Given the description of an element on the screen output the (x, y) to click on. 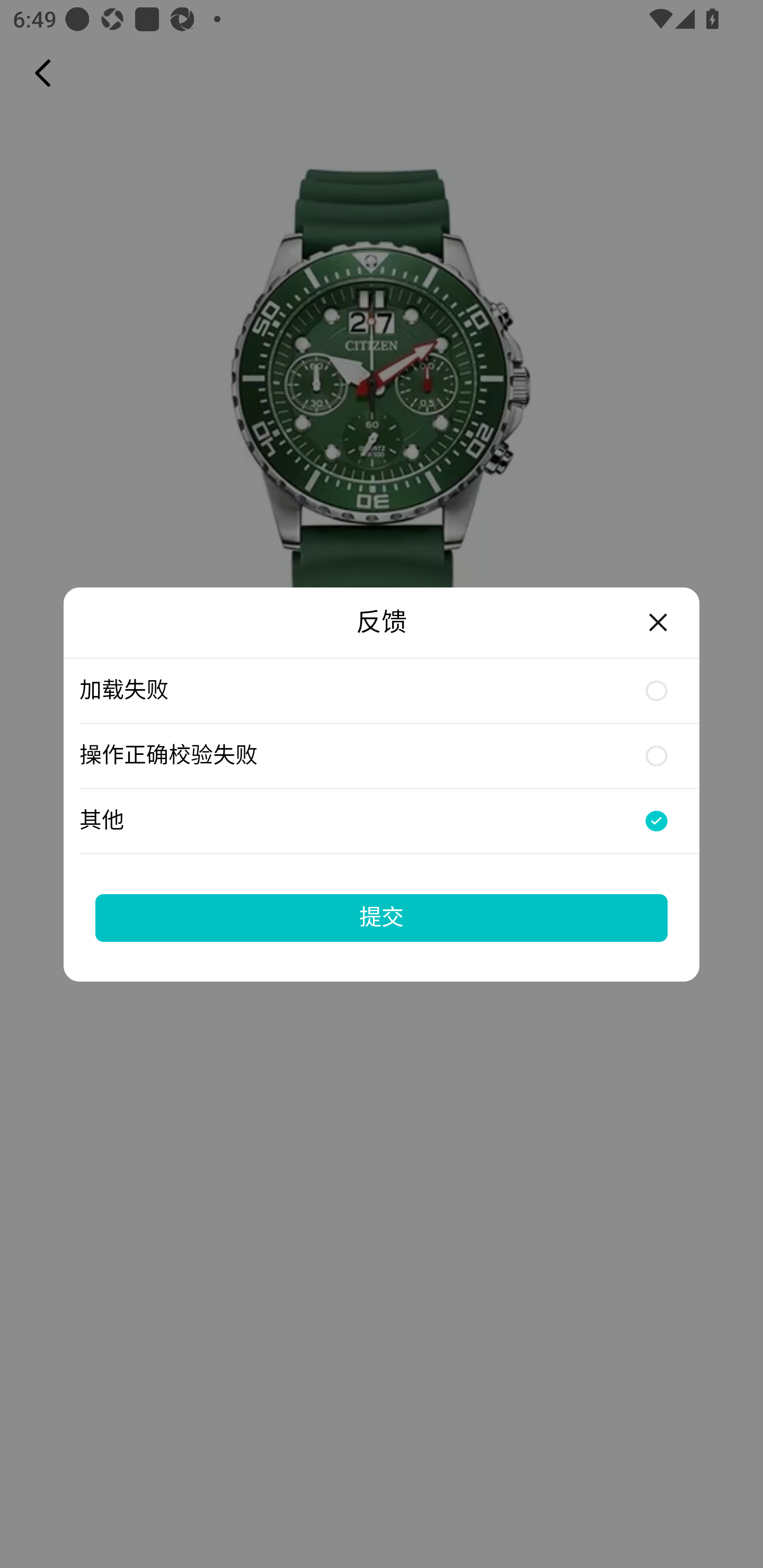
提交 (381, 917)
